Given the description of an element on the screen output the (x, y) to click on. 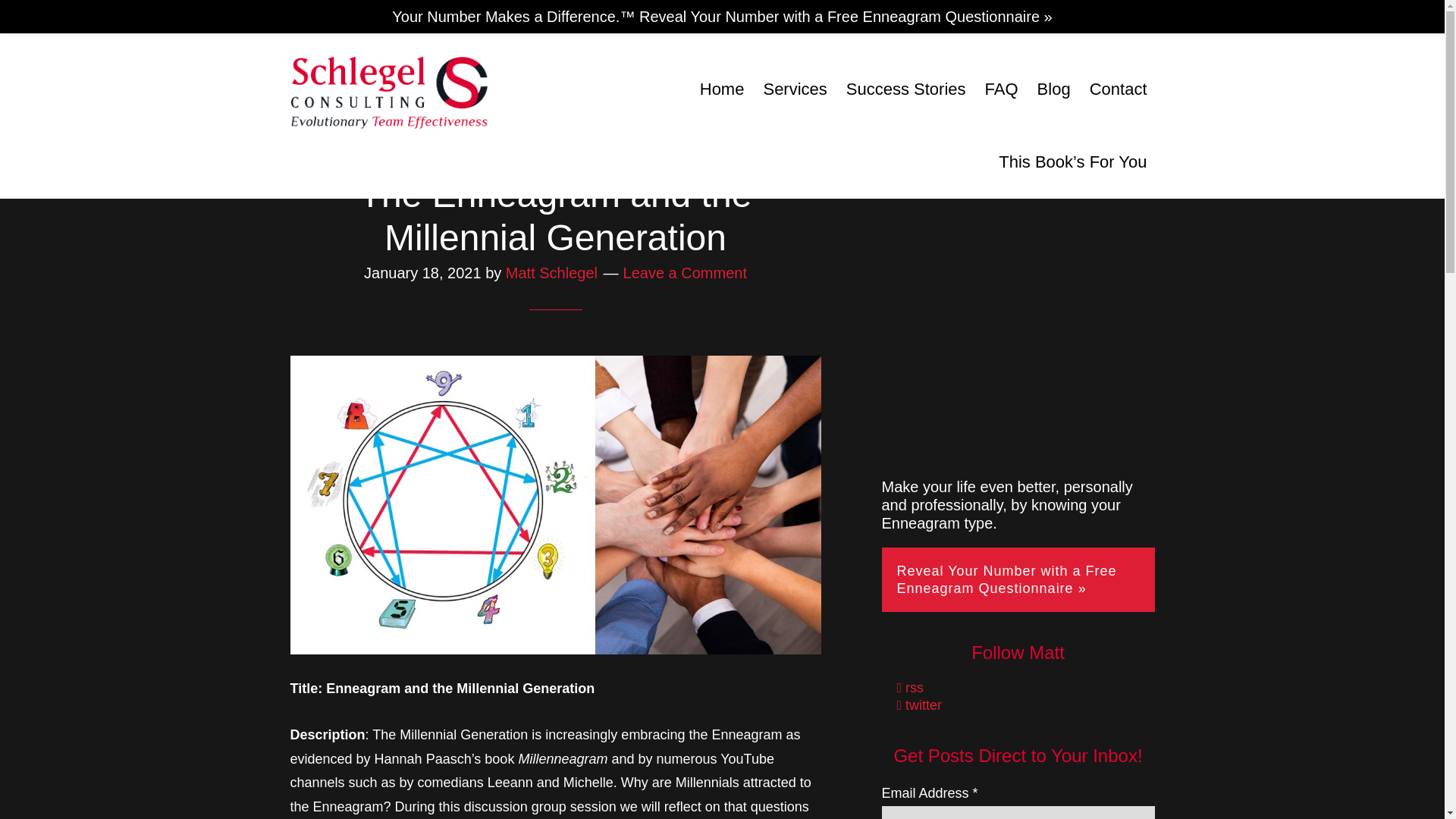
SCHLEGEL CONSULTING (388, 90)
Services (794, 89)
Leave a Comment (684, 272)
Matt Schlegel (550, 272)
Success Stories (906, 89)
Contact (1117, 89)
rss (909, 687)
twitter (919, 704)
